Given the description of an element on the screen output the (x, y) to click on. 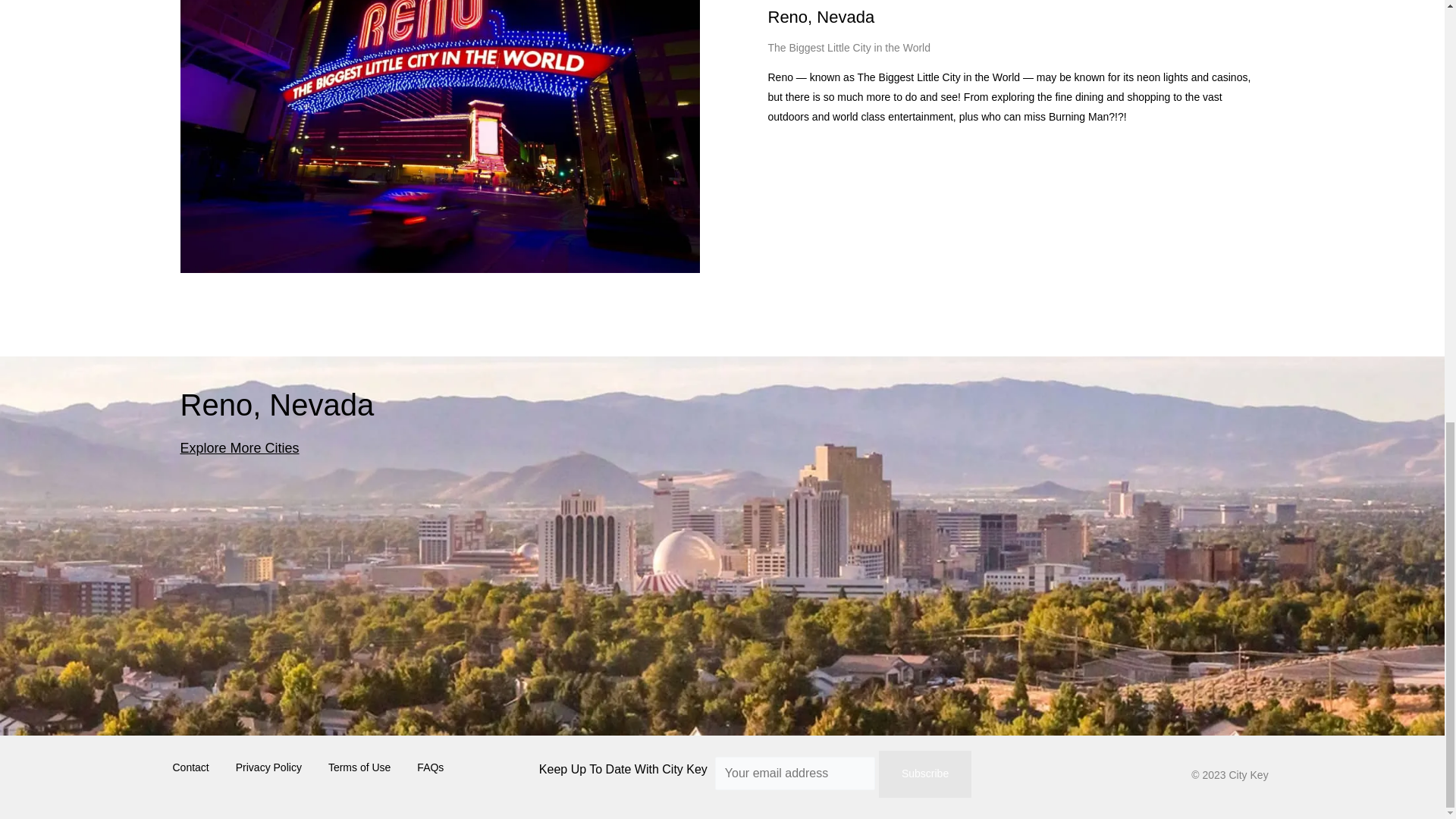
Contact (191, 767)
Subscribe (925, 774)
Subscribe (925, 774)
Terms of Use (359, 767)
Privacy Policy (268, 767)
Explore More Cities (239, 447)
